Given the description of an element on the screen output the (x, y) to click on. 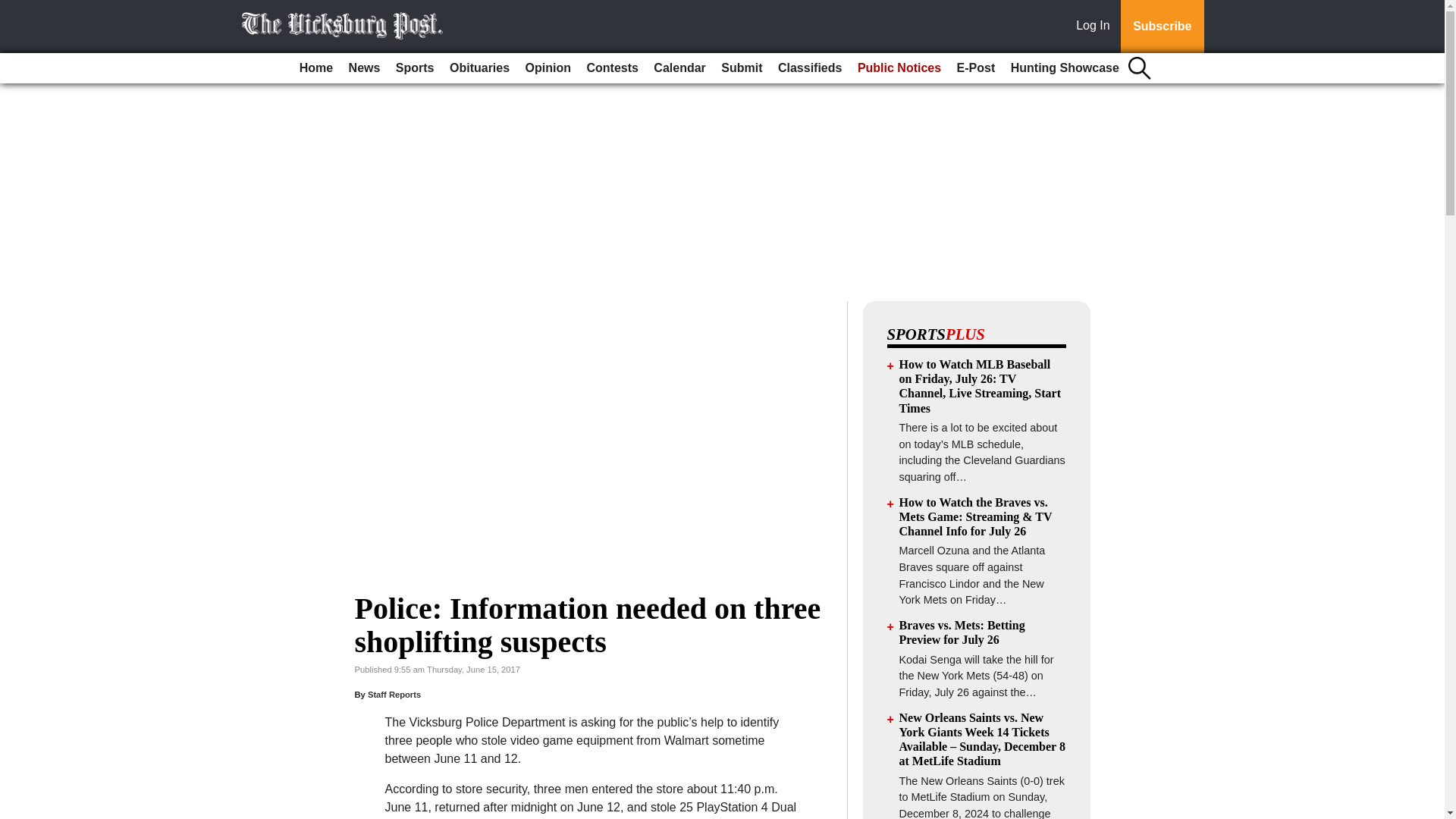
E-Post (975, 68)
Opinion (547, 68)
Calendar (679, 68)
Submit (741, 68)
Log In (1095, 26)
Hunting Showcase (1064, 68)
Classifieds (809, 68)
Home (316, 68)
Subscribe (1162, 26)
News (364, 68)
Contests (611, 68)
Staff Reports (394, 694)
Sports (415, 68)
Go (13, 9)
Public Notices (899, 68)
